Given the description of an element on the screen output the (x, y) to click on. 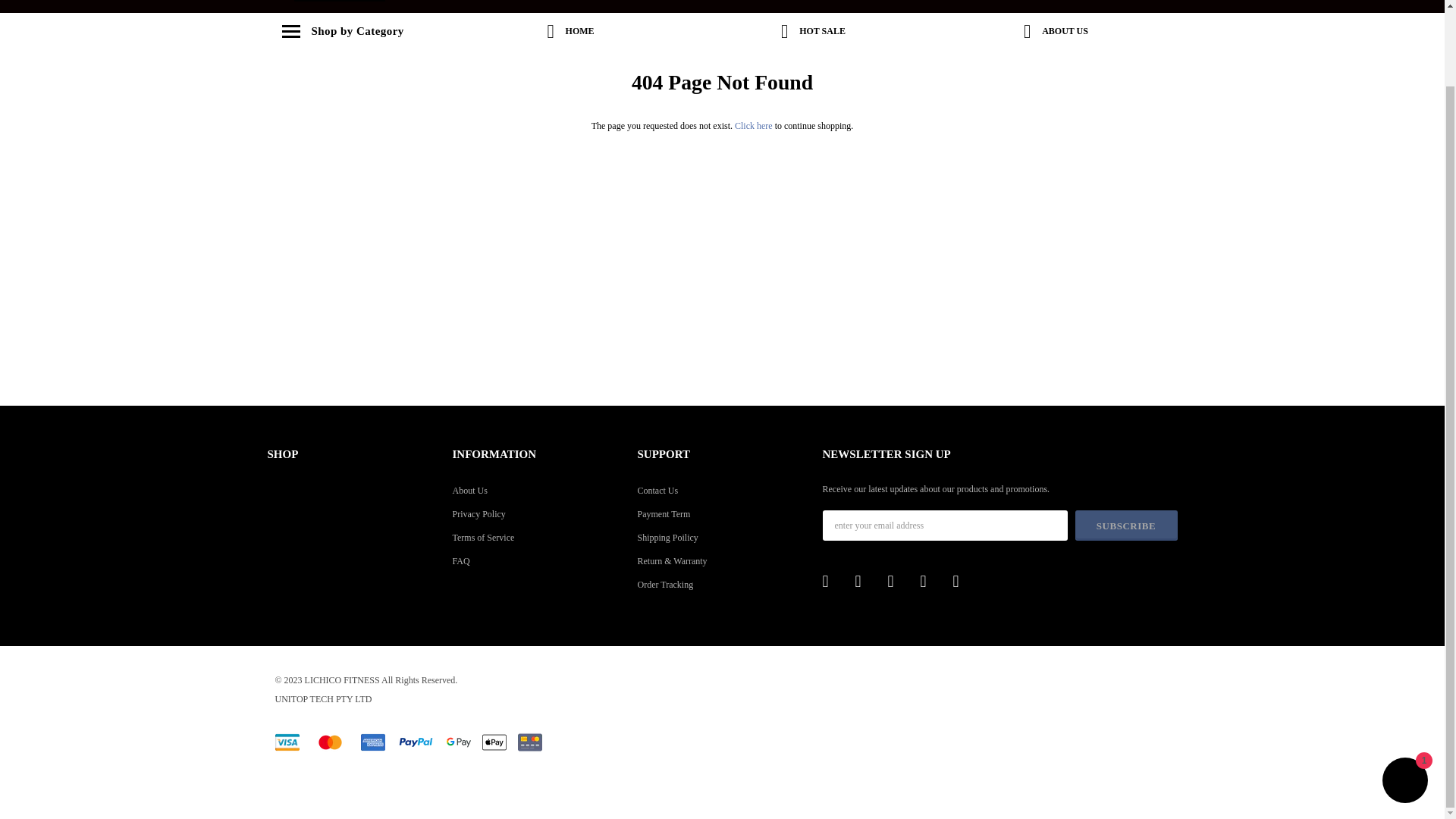
ABOUT US (1055, 31)
Click here (754, 125)
Twitter (866, 581)
About Us (536, 490)
Terms of Service (536, 537)
FAQ (536, 560)
Pinterest (898, 581)
HOME (570, 31)
Shipping Poilicy (721, 537)
Instagram (931, 581)
Subscribe (1126, 525)
Shopify online store chat (1404, 696)
HOT SALE (812, 31)
YouTube (963, 581)
Contact Us (721, 490)
